Given the description of an element on the screen output the (x, y) to click on. 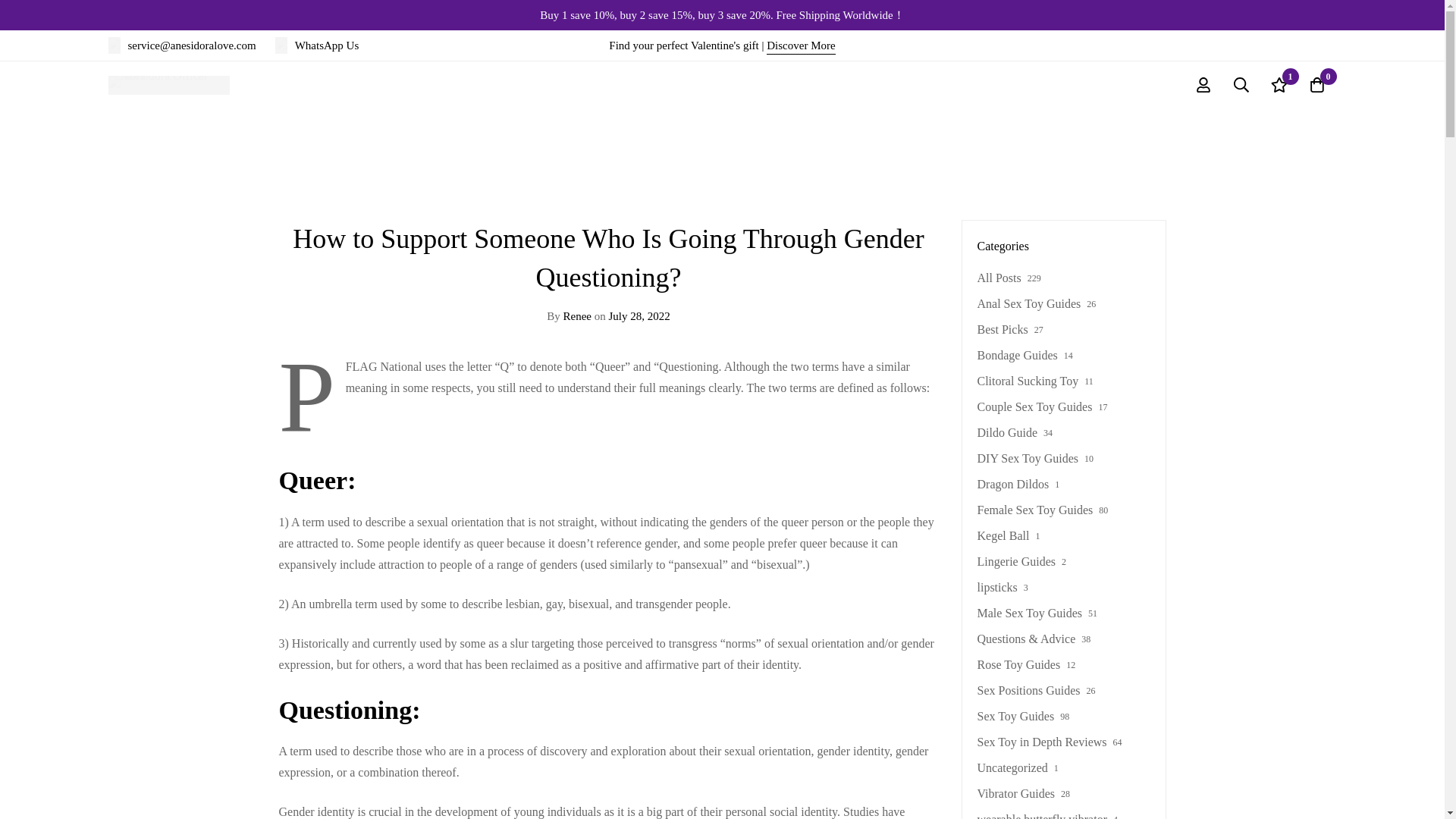
Discover More (800, 45)
1 (1279, 84)
0 (1317, 84)
WhatsApp Us (317, 45)
